Given the description of an element on the screen output the (x, y) to click on. 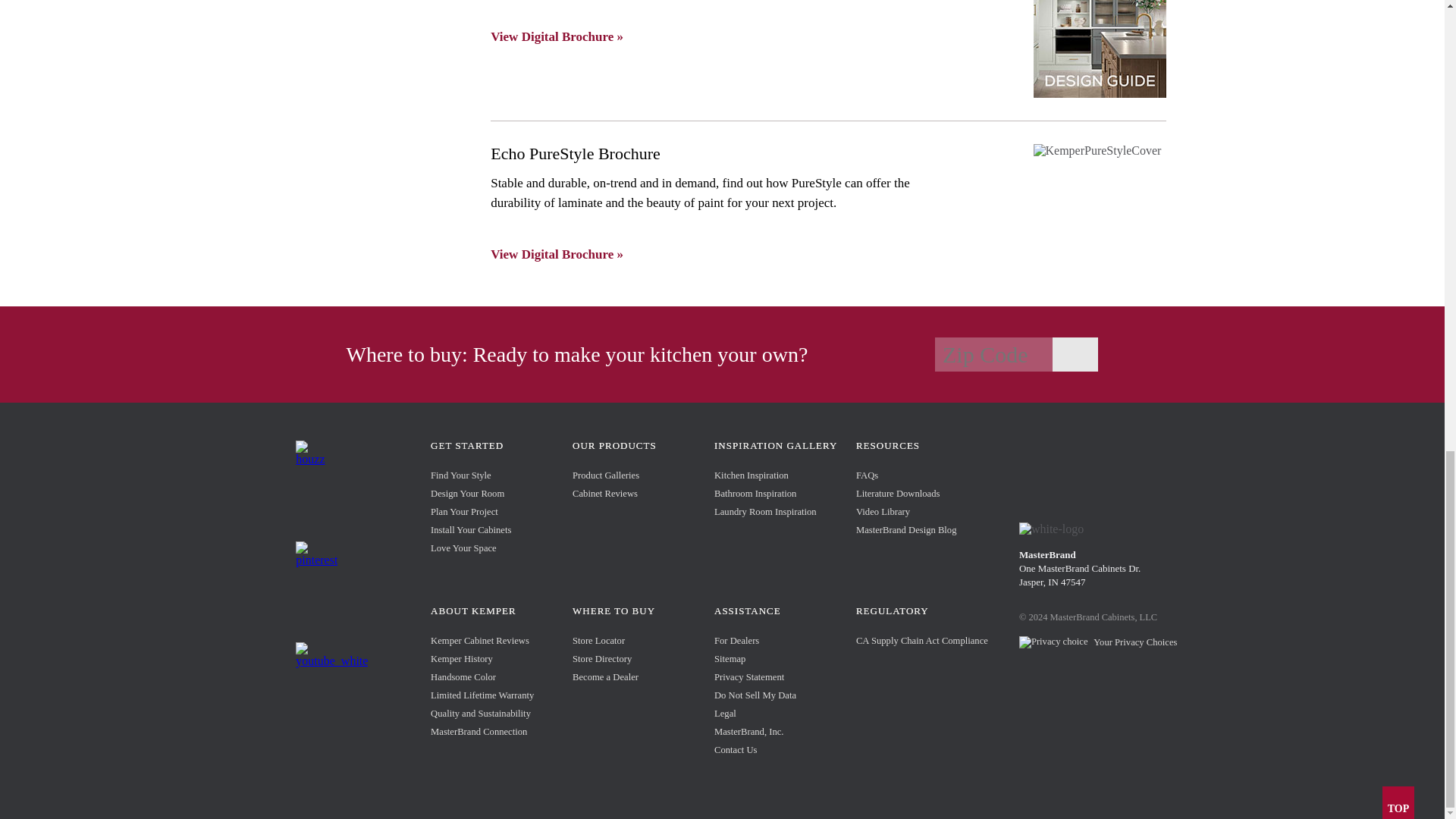
Install Your Cabinets (470, 529)
OUR PRODUCTS (614, 446)
Plan Your Project (463, 511)
Find Your Style (461, 475)
GET STARTED (466, 446)
Design Your Room (466, 493)
Love Your Space (463, 547)
Product Galleries (605, 475)
